Given the description of an element on the screen output the (x, y) to click on. 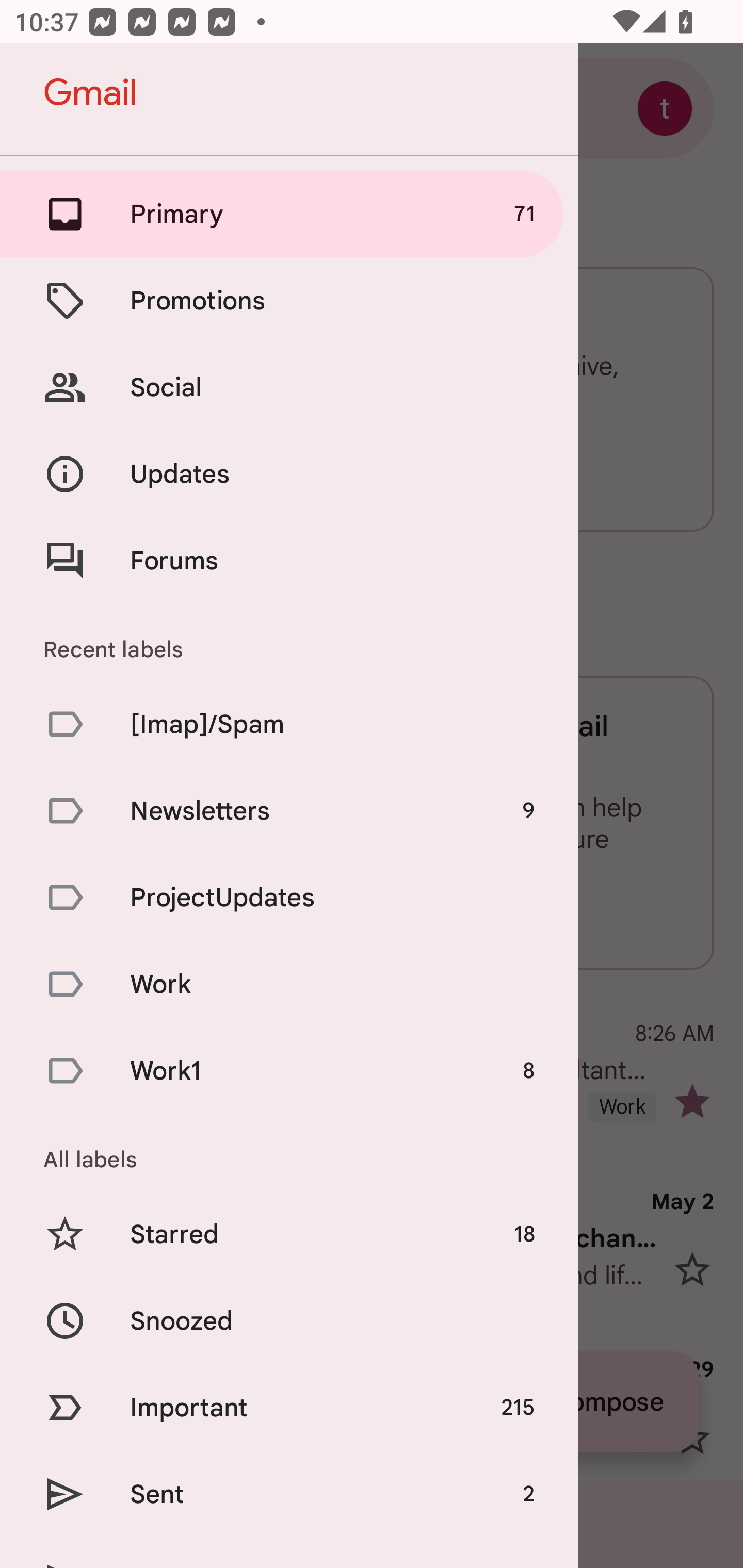
Primary 71 (289, 213)
Promotions (289, 300)
Social (289, 387)
Updates (289, 474)
Forums (289, 560)
[Imap]/Spam (289, 723)
Newsletters 9 (289, 810)
ProjectUpdates (289, 897)
Work (289, 983)
Work1 8 (289, 1070)
Starred 18 (289, 1234)
Snoozed (289, 1320)
Important 215 (289, 1407)
Sent 2 (289, 1494)
